Given the description of an element on the screen output the (x, y) to click on. 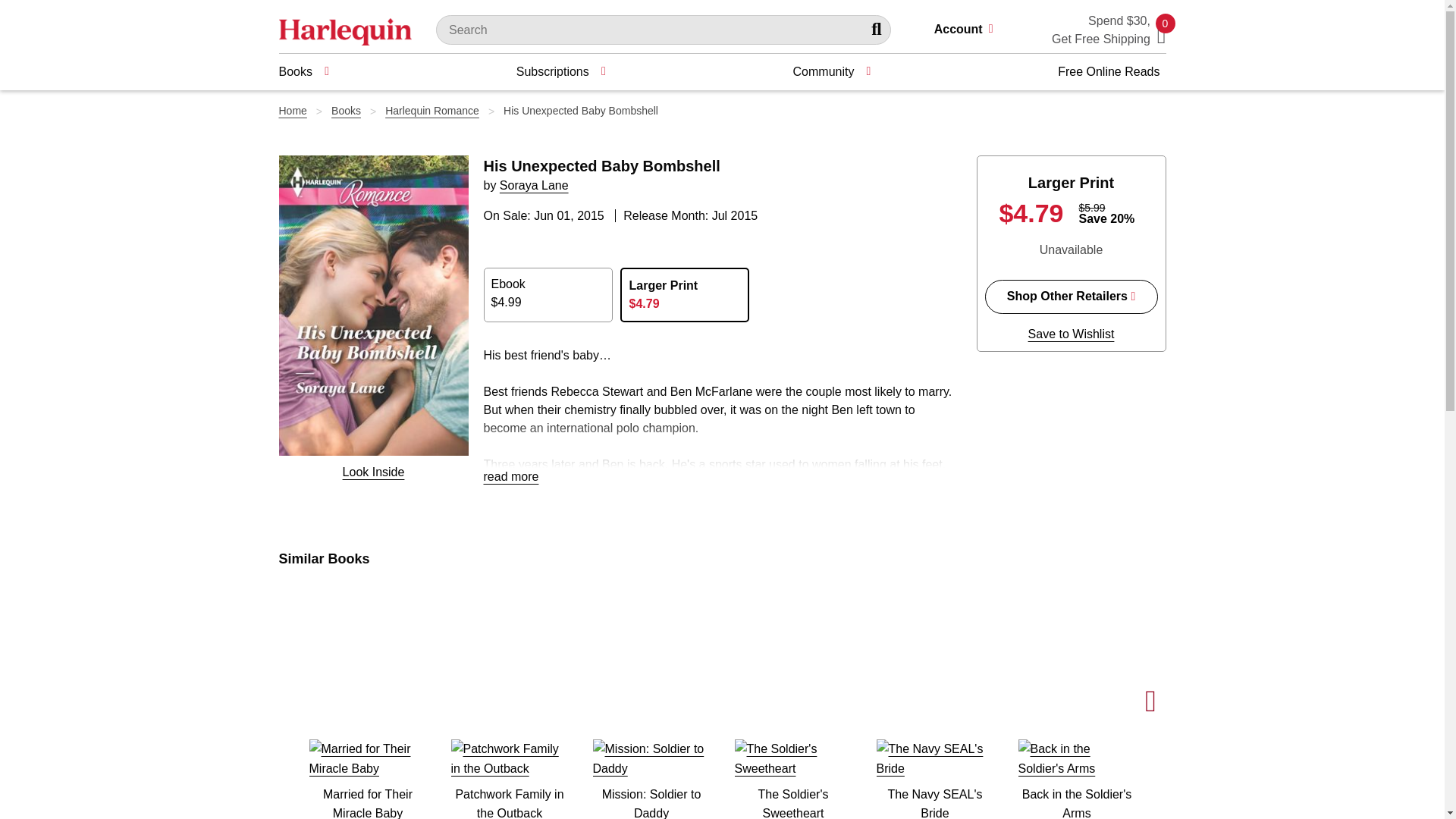
Books (304, 72)
Account (970, 30)
Harlequin home (345, 30)
Search for other content by Soraya Lane (534, 185)
